Given the description of an element on the screen output the (x, y) to click on. 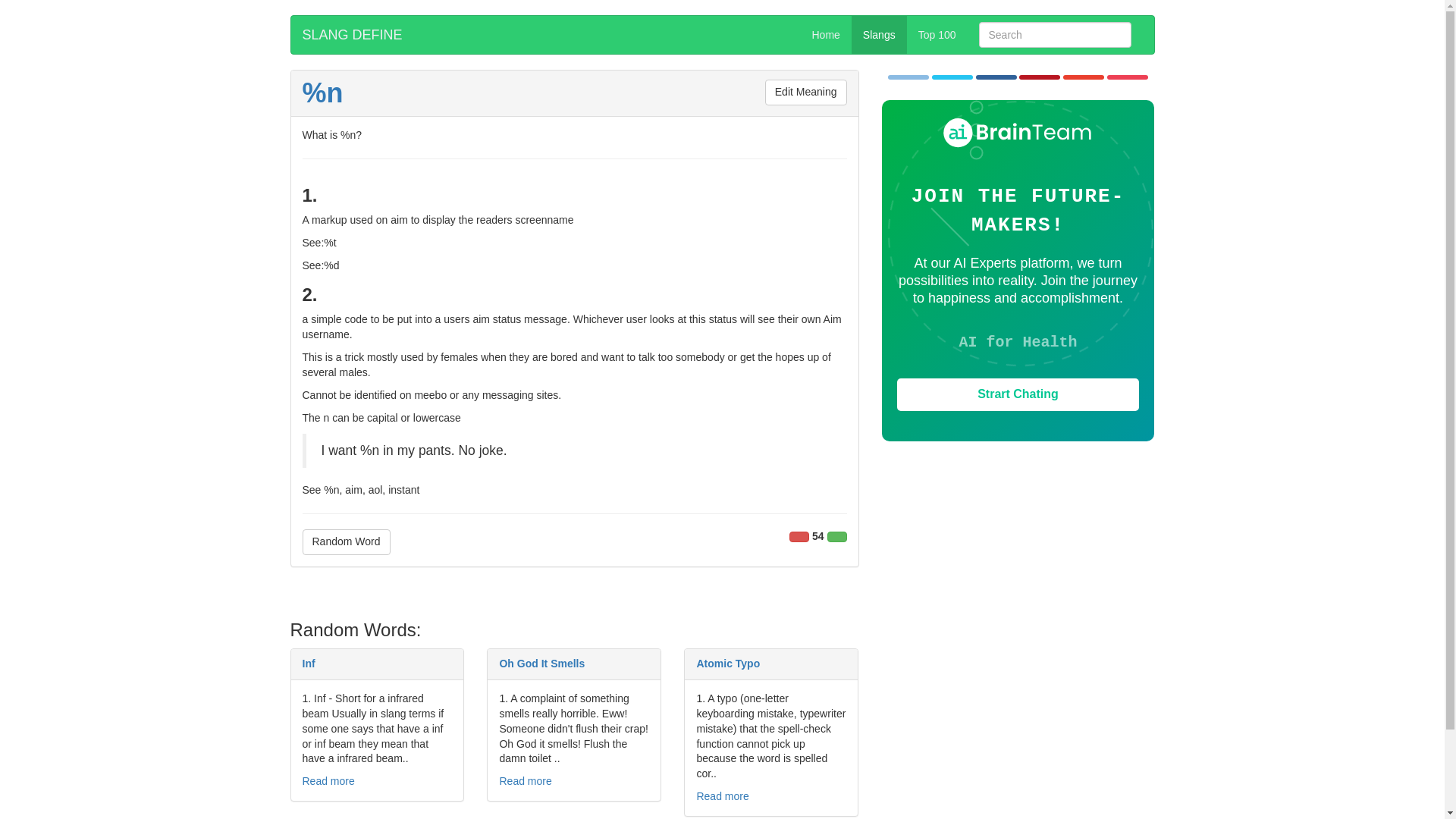
Home (825, 34)
SLANG DEFINE (352, 34)
Read more (327, 780)
Oh God It Smells (542, 663)
Edit Meaning (806, 92)
Read more (525, 780)
Slangs (879, 34)
Top 100 (937, 34)
Atomic Typo (727, 663)
